Given the description of an element on the screen output the (x, y) to click on. 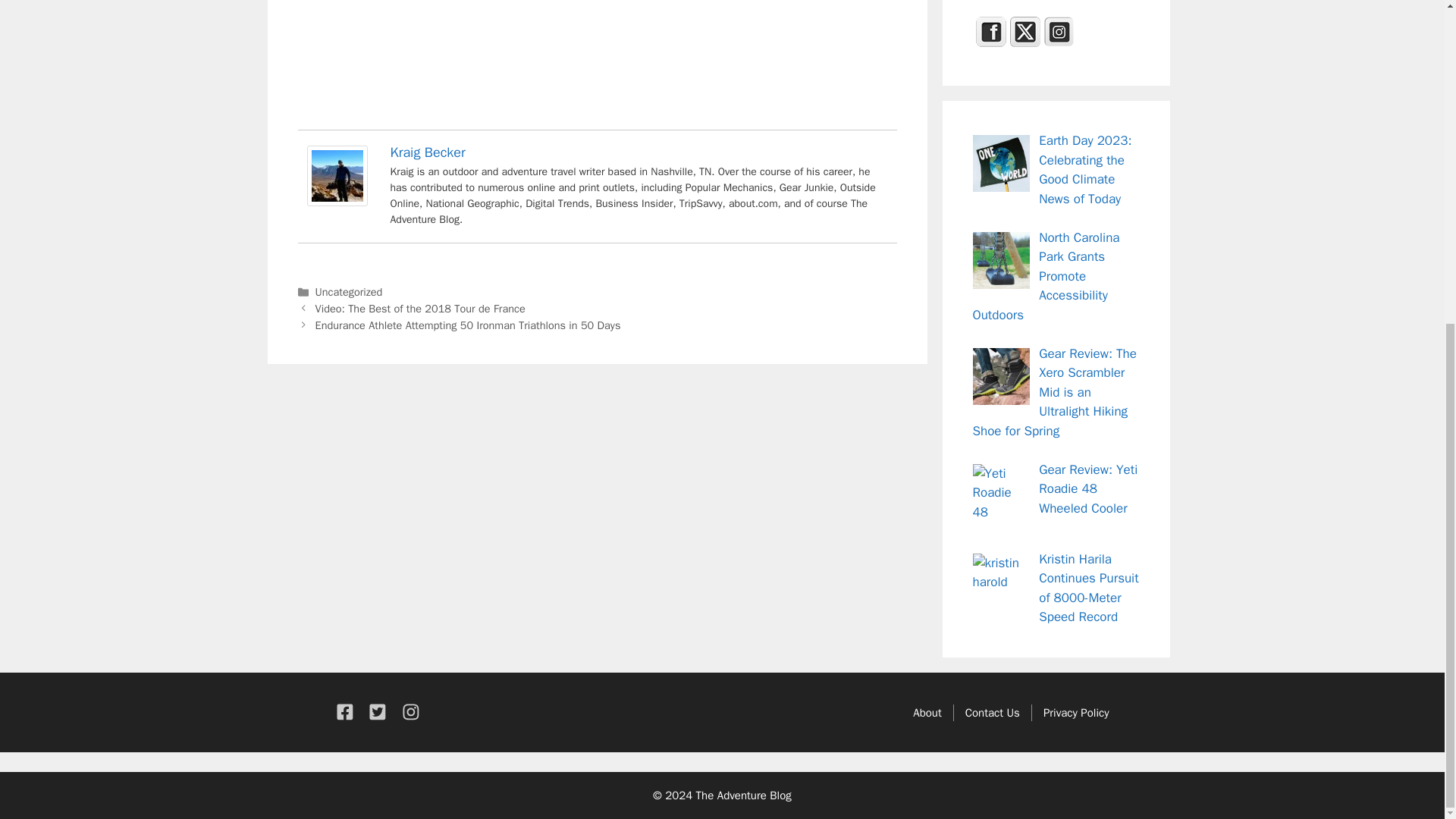
Facebook (990, 31)
Uncategorized (348, 291)
North Carolina Park Grants Promote Accessibility Outdoors (1045, 276)
Gear Review: Yeti Roadie 48 Wheeled Cooler (1088, 488)
Twitter (1025, 31)
Kraig Becker (427, 152)
Kraig Becker (335, 201)
Video: The Best of the 2018 Tour de France (420, 308)
